Given the description of an element on the screen output the (x, y) to click on. 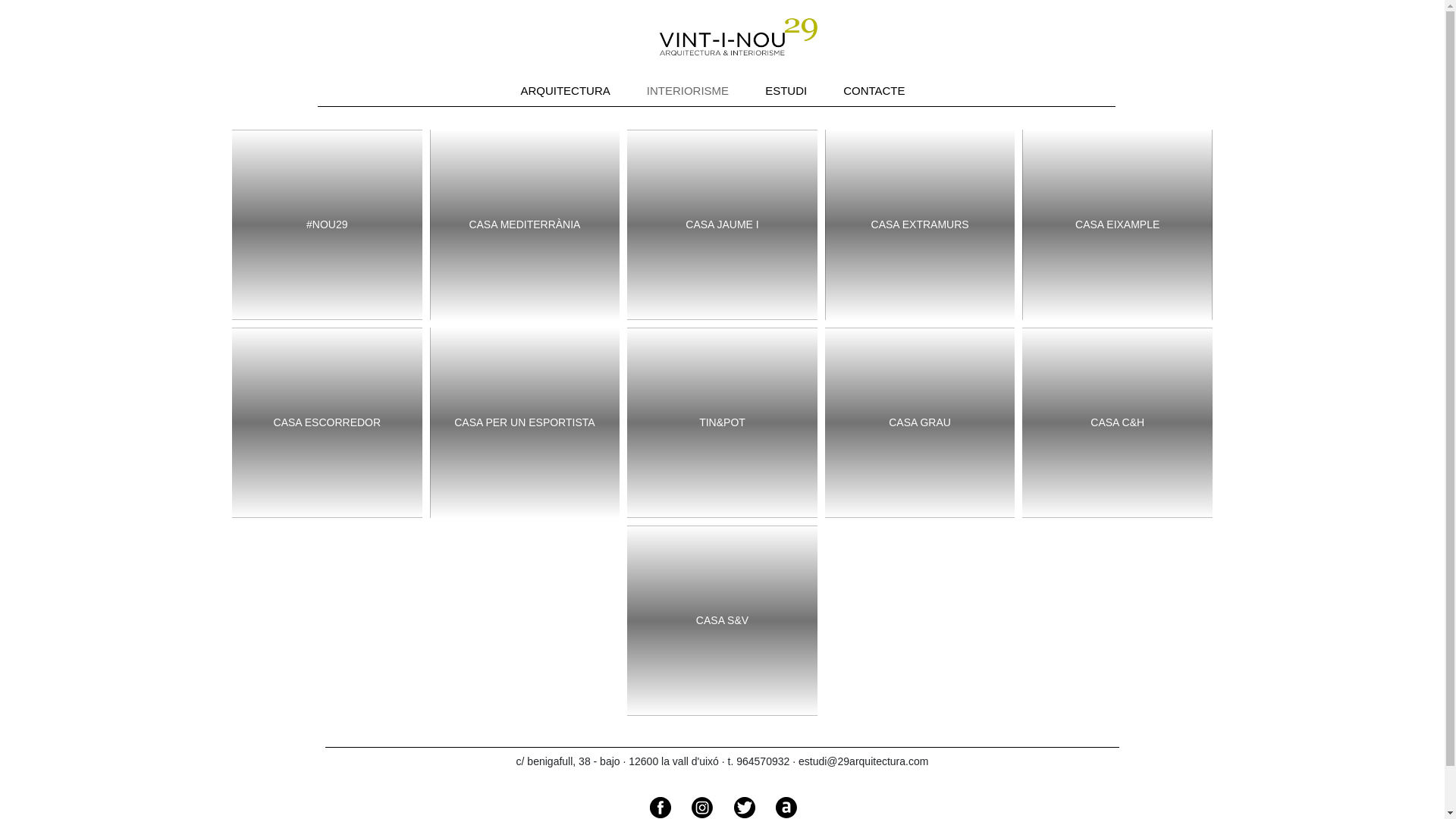
CONTACTE Element type: text (873, 90)
ESTUDI Element type: text (785, 90)
ARQUITECTURA Element type: text (564, 90)
INTERIORISME Element type: text (687, 90)
